Given the description of an element on the screen output the (x, y) to click on. 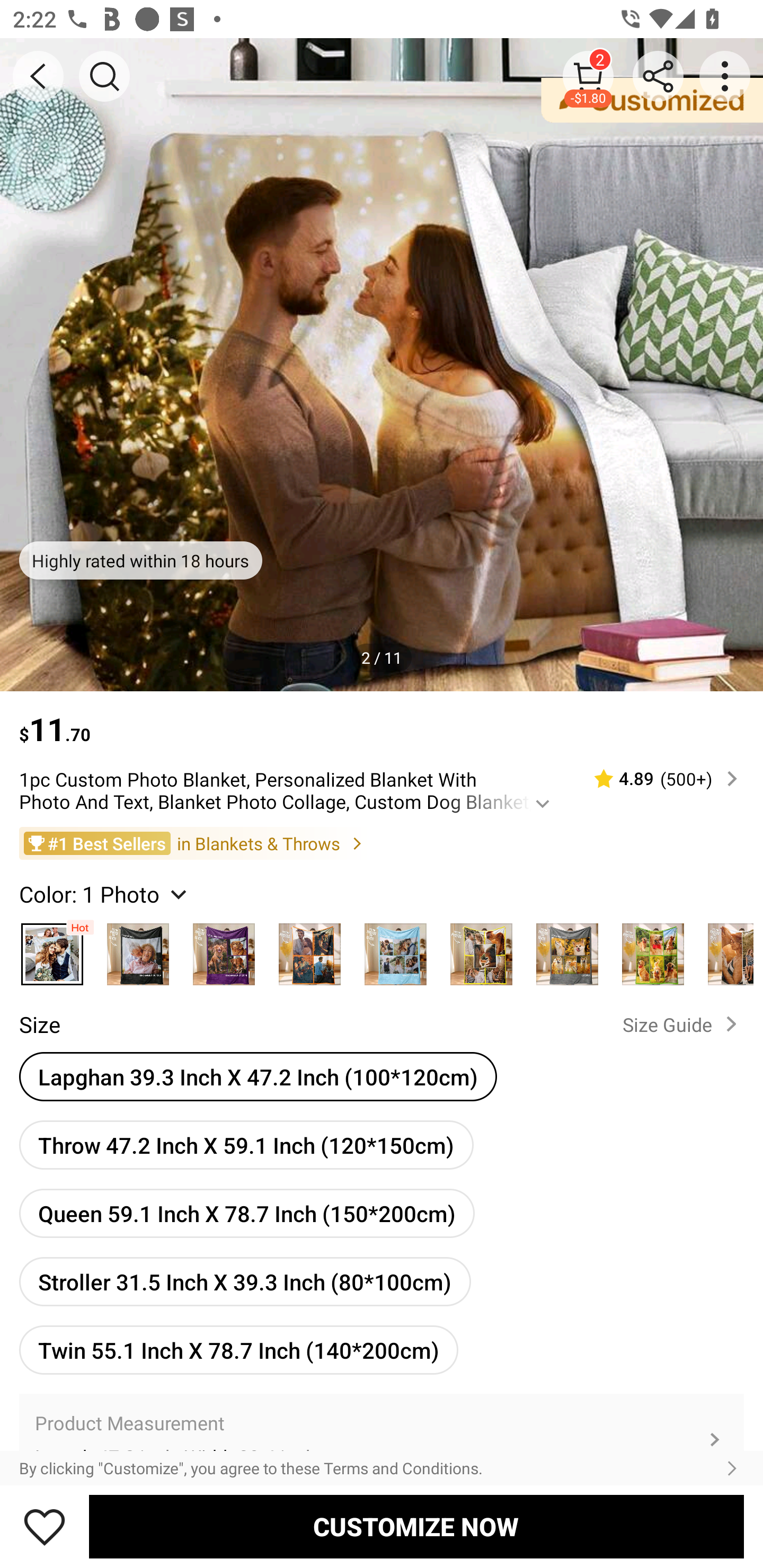
PHOTOS Highly rated within 18 hours 2 / 11 (381, 364)
BACK (38, 75)
2 -$1.80 (588, 75)
2 / 11 (381, 656)
$11.70 (381, 720)
4.89 (500‎+) (658, 778)
#1 Best Sellers in Blankets & Throws (381, 842)
Color: 1 Photo (105, 893)
1 Photo (52, 949)
1 Photo + Text (138, 949)
3 Photos + Text (224, 949)
4 Photos (309, 949)
4 Photos + Text (395, 949)
5 Photos (481, 949)
5 Photos + Text (567, 949)
6 Photos (652, 949)
6 Photos - 2 (724, 949)
Size (39, 1024)
Size Guide (682, 1023)
CUSTOMIZE NOW (416, 1526)
Save (44, 1526)
